Given the description of an element on the screen output the (x, y) to click on. 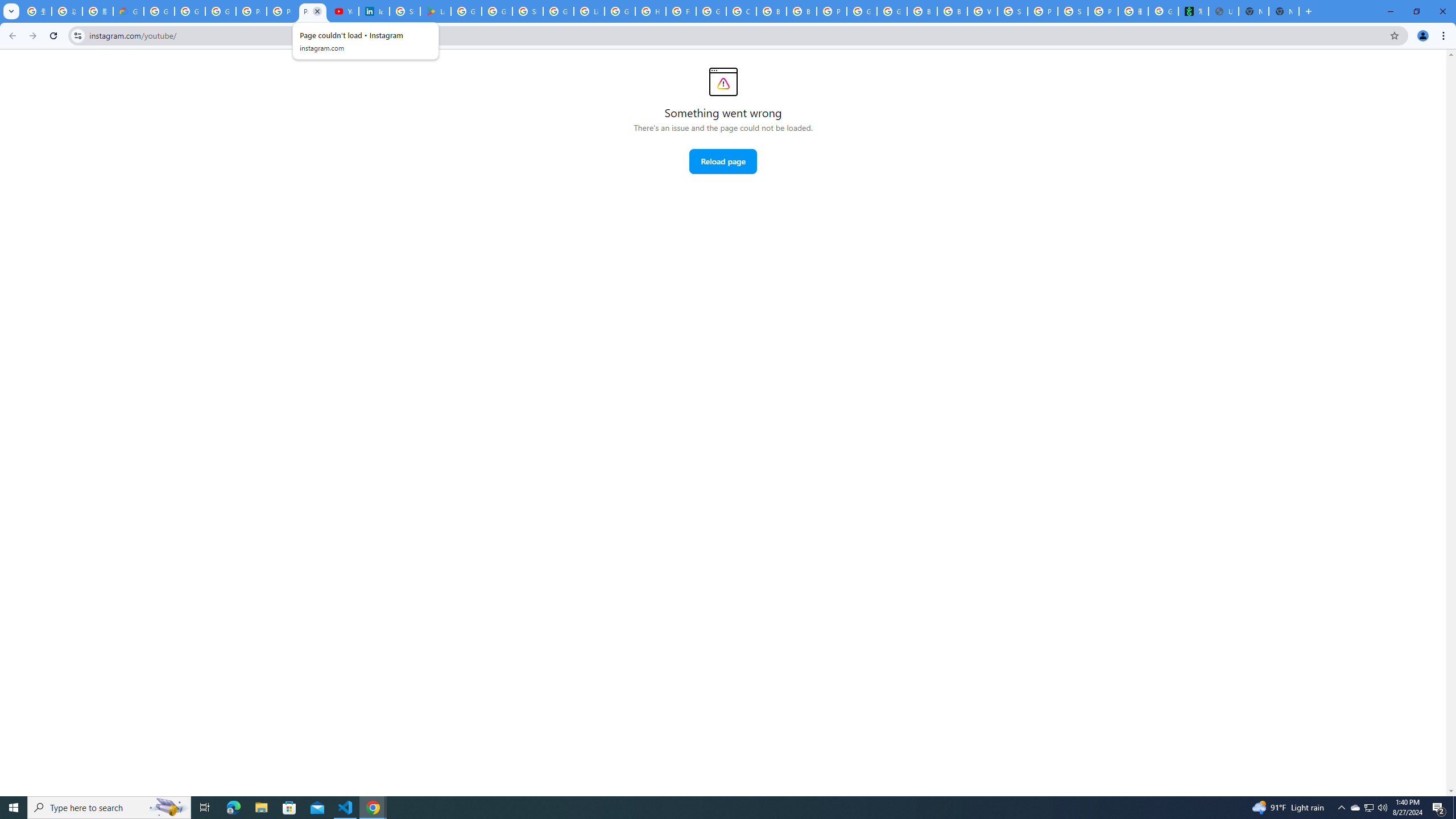
New Tab (1283, 11)
Sign in - Google Accounts (1012, 11)
Sign in - Google Accounts (527, 11)
